Given the description of an element on the screen output the (x, y) to click on. 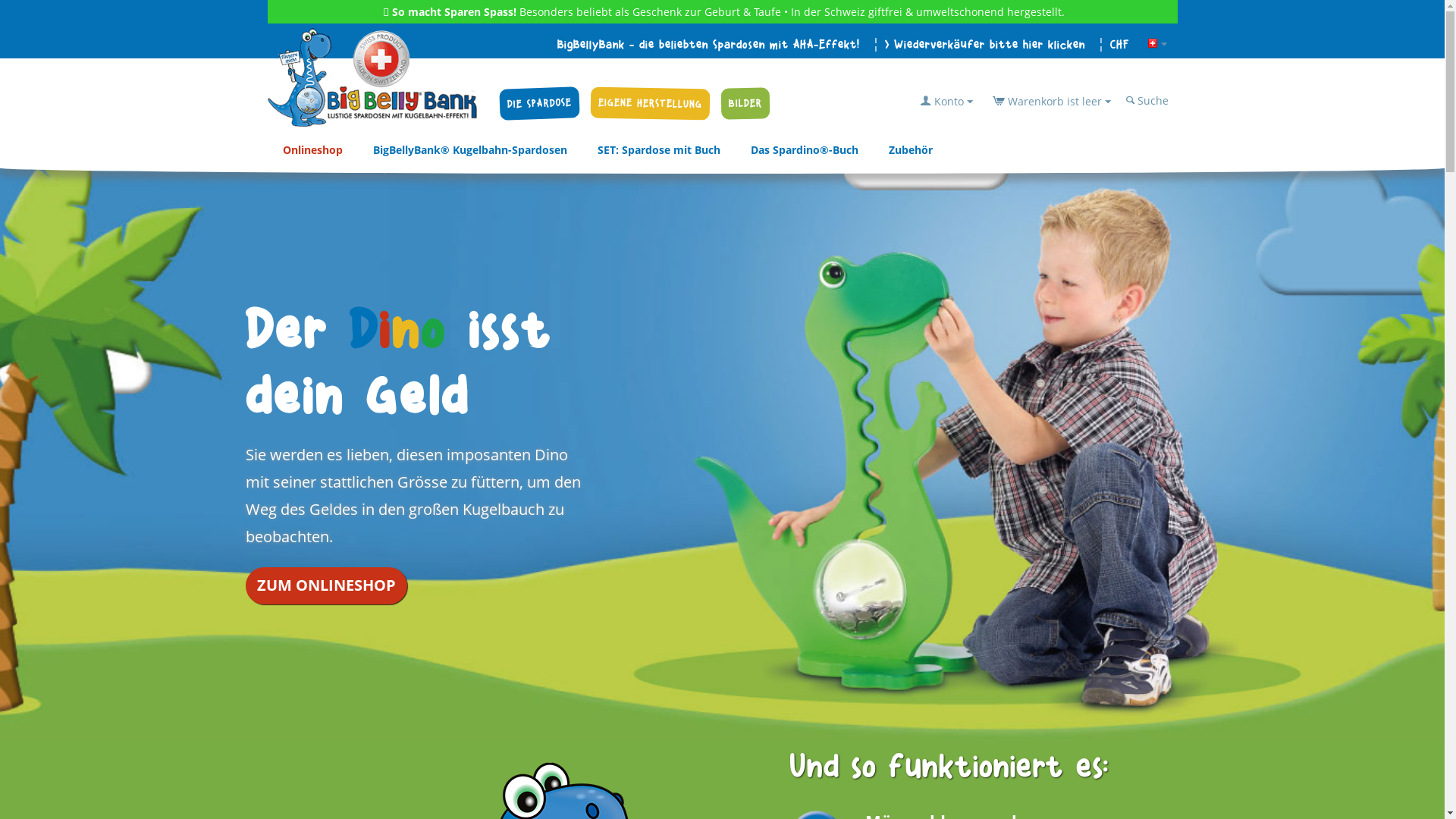
SET: Spardose mit Buch Element type: text (658, 149)
EIGENE HERSTELLUNG Element type: text (649, 102)
BigBellyBank - die beliebten Spardosen mit AHA-Effekt! Element type: text (707, 44)
DIE SPARDOSE Element type: text (538, 101)
ZUM ONLINESHOP Element type: text (326, 585)
BILDER Element type: text (745, 102)
 Konto Element type: text (946, 101)
Warenkorb ist leer Element type: text (1051, 101)
Onlineshop Element type: text (311, 149)
Suche Element type: text (1148, 99)
